Given the description of an element on the screen output the (x, y) to click on. 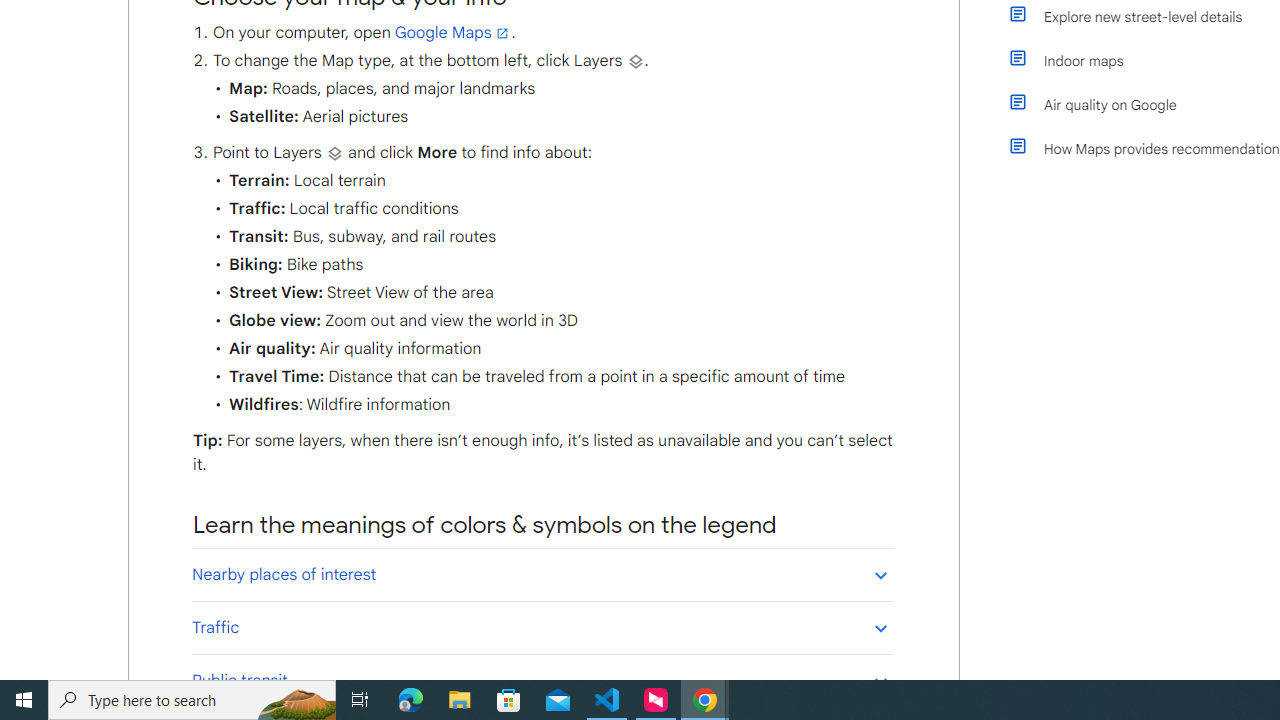
Traffic (542, 627)
Public transit (542, 680)
Layers (334, 153)
Nearby places of interest (542, 574)
Google Maps (453, 33)
